Given the description of an element on the screen output the (x, y) to click on. 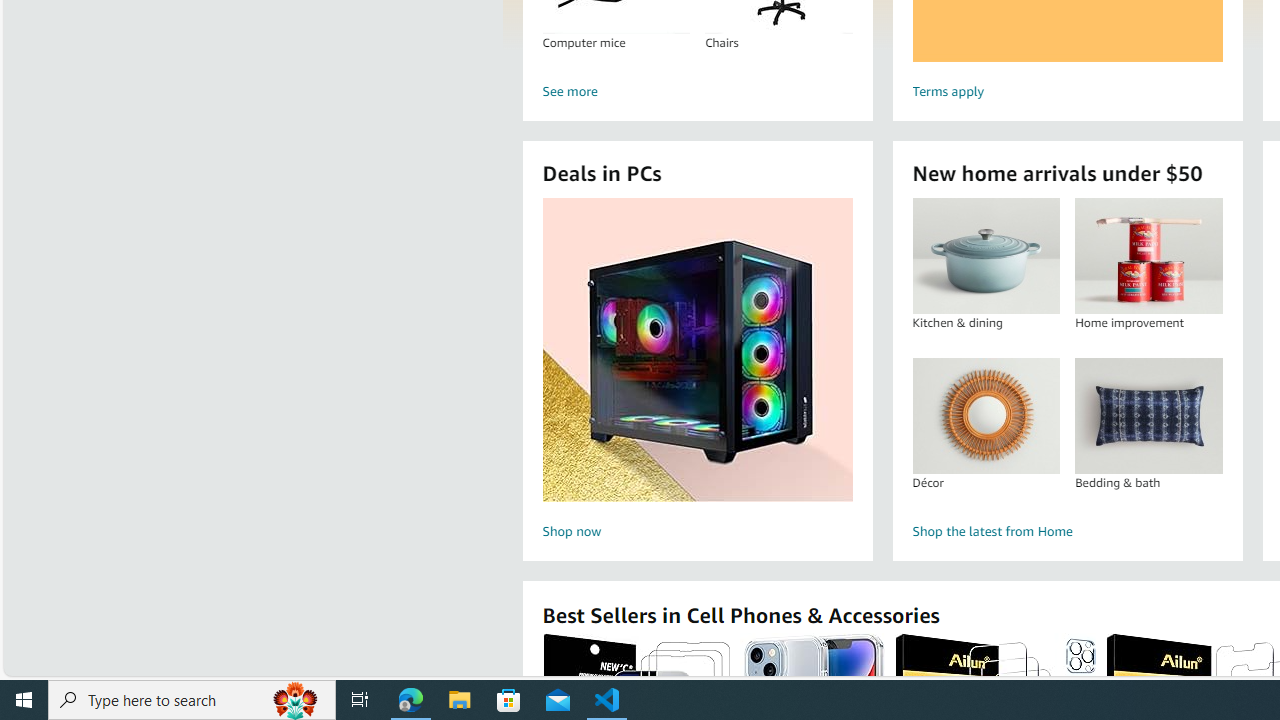
Problems (Ctrl+Shift+M) (351, 228)
Start (24, 699)
Home improvement (1148, 256)
Timeline Section (175, 646)
See more (696, 92)
Output (Ctrl+Shift+U) (421, 228)
Microsoft Edge - 1 running window (411, 699)
Deals in PCs Shop now (697, 371)
Debug Console (Ctrl+Shift+Y) (509, 228)
Visual Studio Code - 1 running window (607, 699)
Type here to search (191, 699)
File Explorer (460, 699)
Deals in PCs (697, 349)
Manage (24, 610)
